Given the description of an element on the screen output the (x, y) to click on. 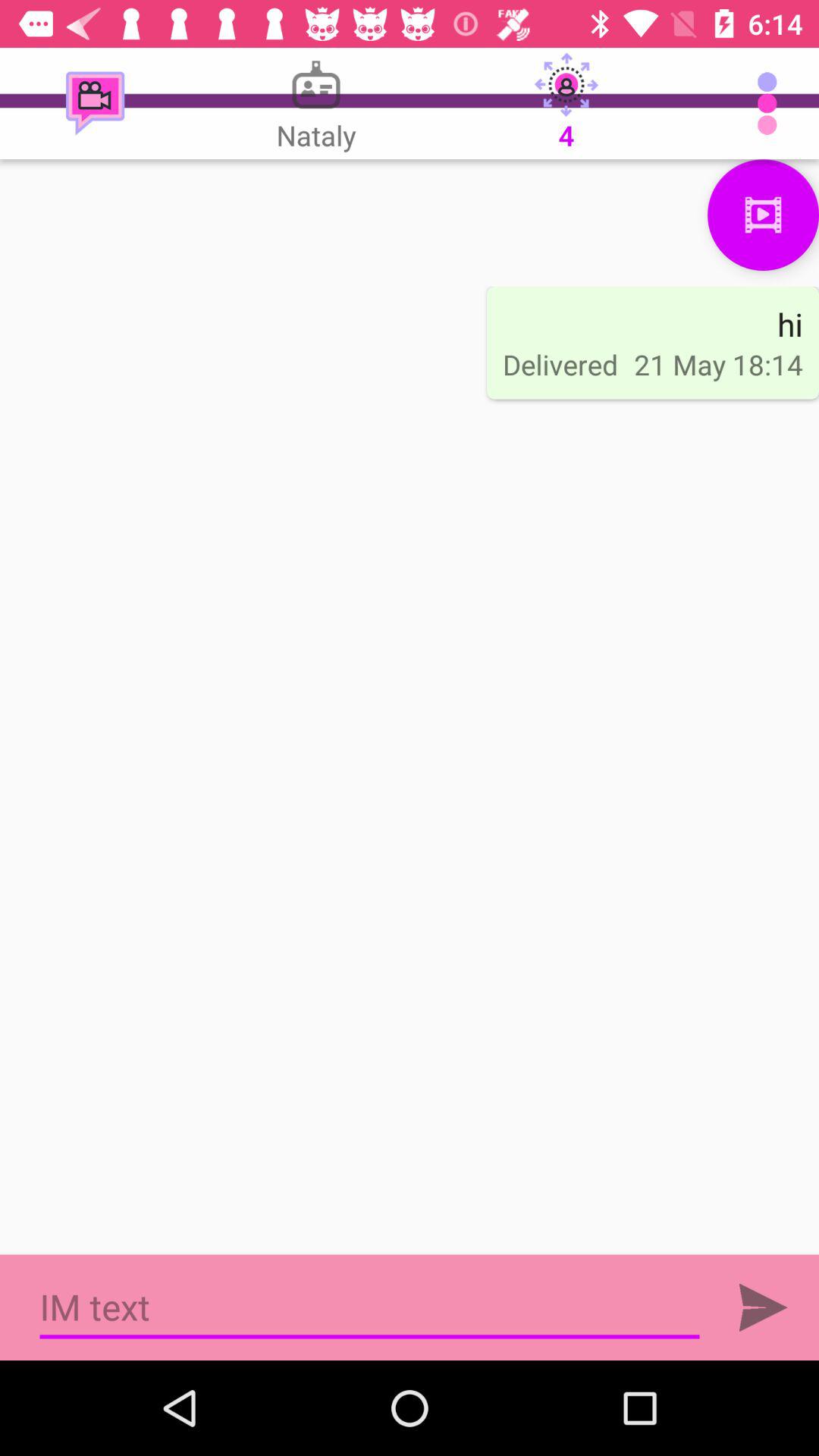
send text (763, 1307)
